Given the description of an element on the screen output the (x, y) to click on. 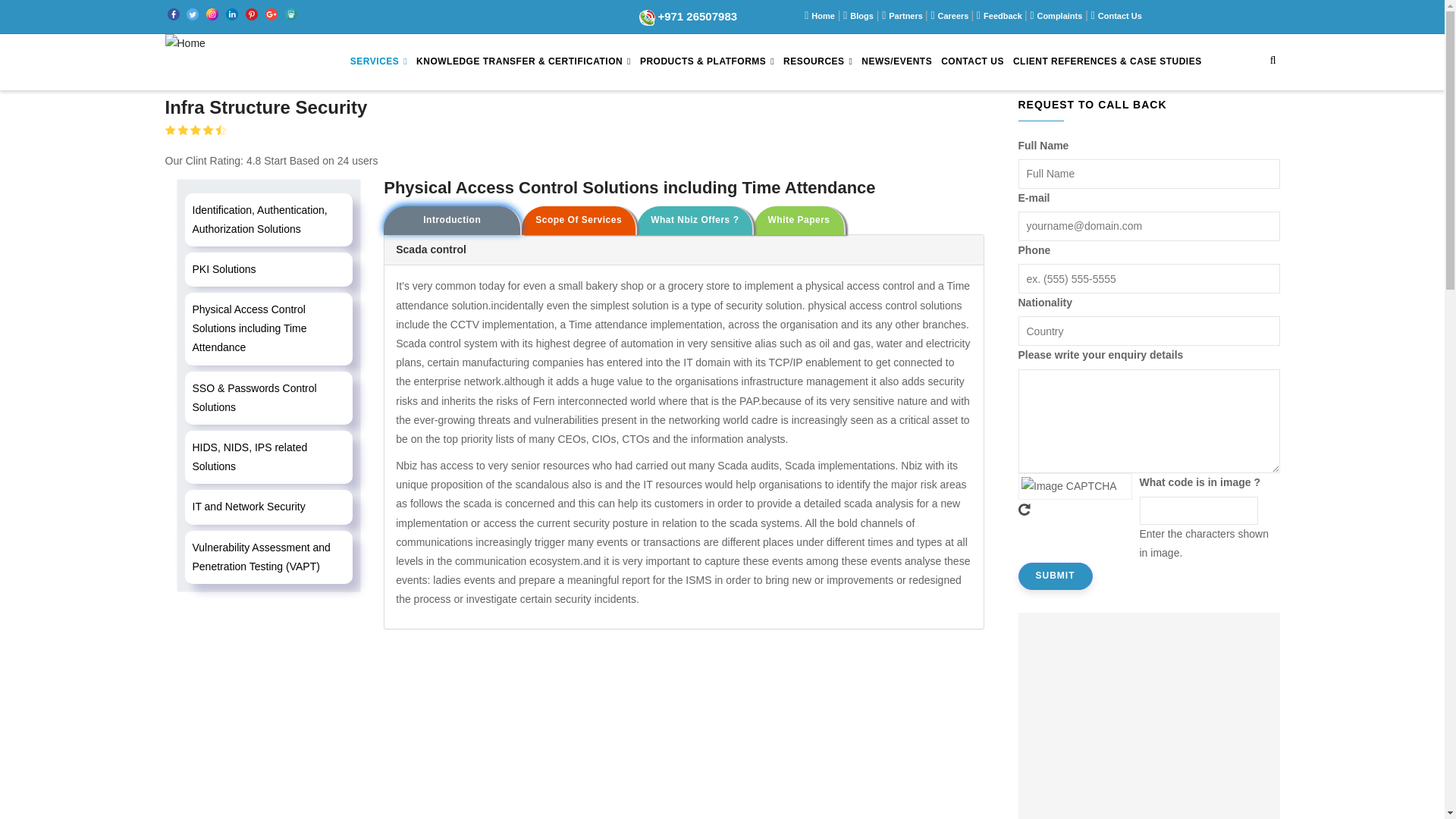
Generate new CAPTCHA image (1074, 509)
Image CAPTCHA (1074, 485)
Careers (954, 15)
Blogs (861, 15)
Contact Us (1119, 15)
SERVICES (379, 62)
Partners (906, 15)
Complaints (1058, 15)
Home (822, 15)
Home (185, 47)
Submit (1054, 575)
Feedback (1004, 15)
